Given the description of an element on the screen output the (x, y) to click on. 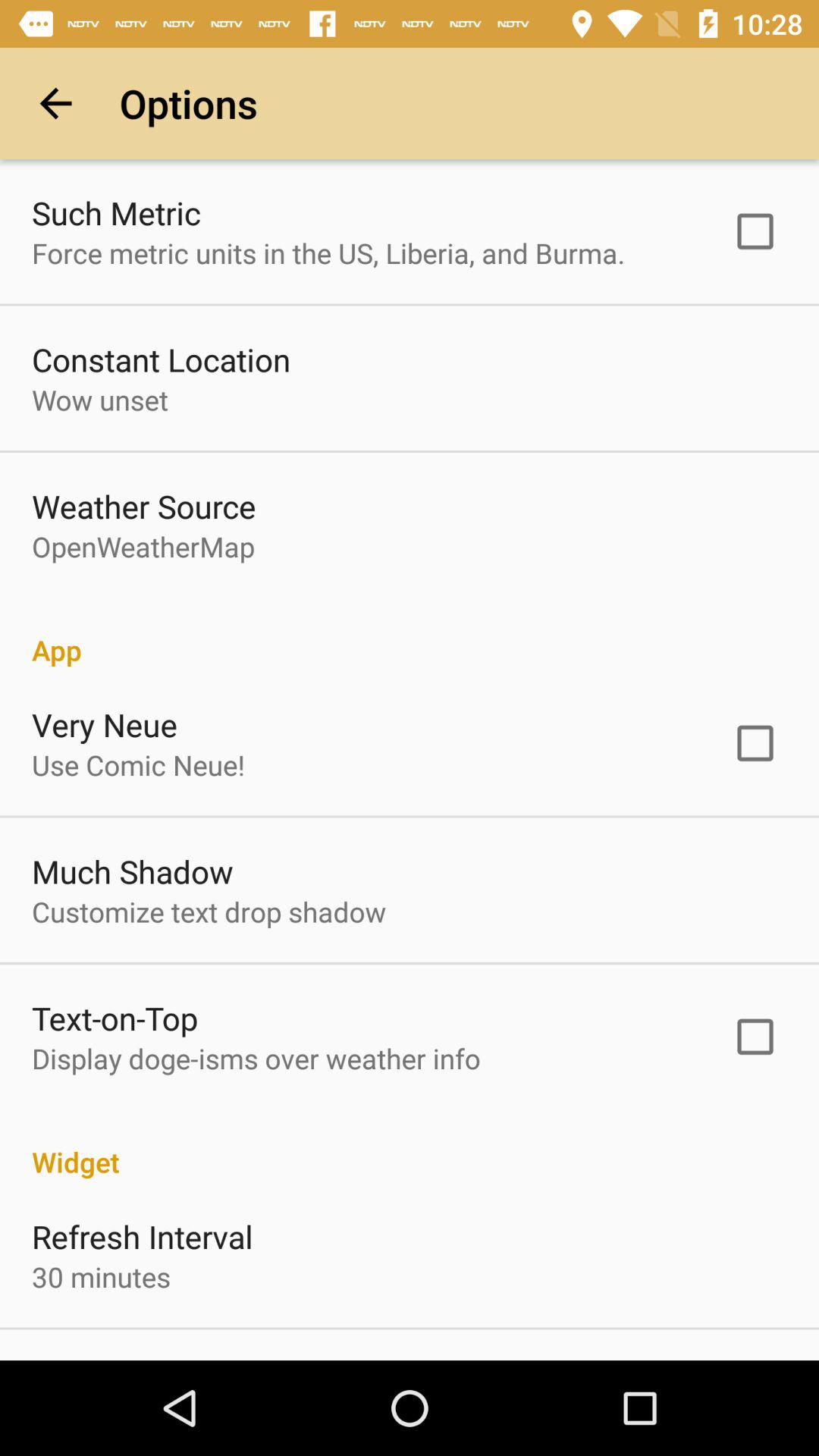
turn off app above openweathermap icon (143, 505)
